Given the description of an element on the screen output the (x, y) to click on. 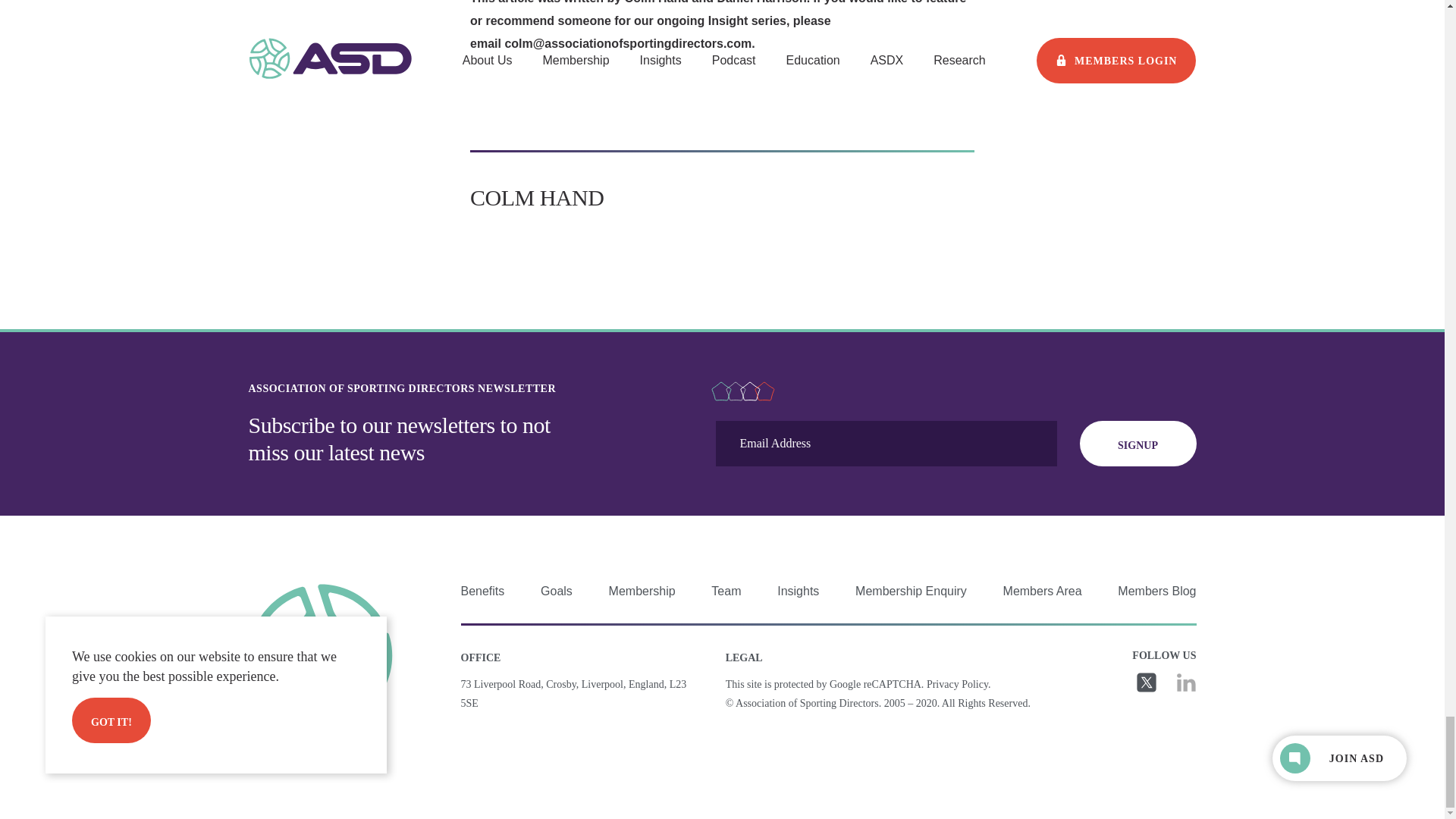
Members Area (1042, 590)
Membership (641, 590)
Benefits (483, 590)
Goals (556, 590)
Privacy Policy. (958, 684)
Membership Enquiry (911, 590)
Members Blog (1156, 590)
SIGNUP (1138, 443)
Insights (797, 590)
Team (726, 590)
